Given the description of an element on the screen output the (x, y) to click on. 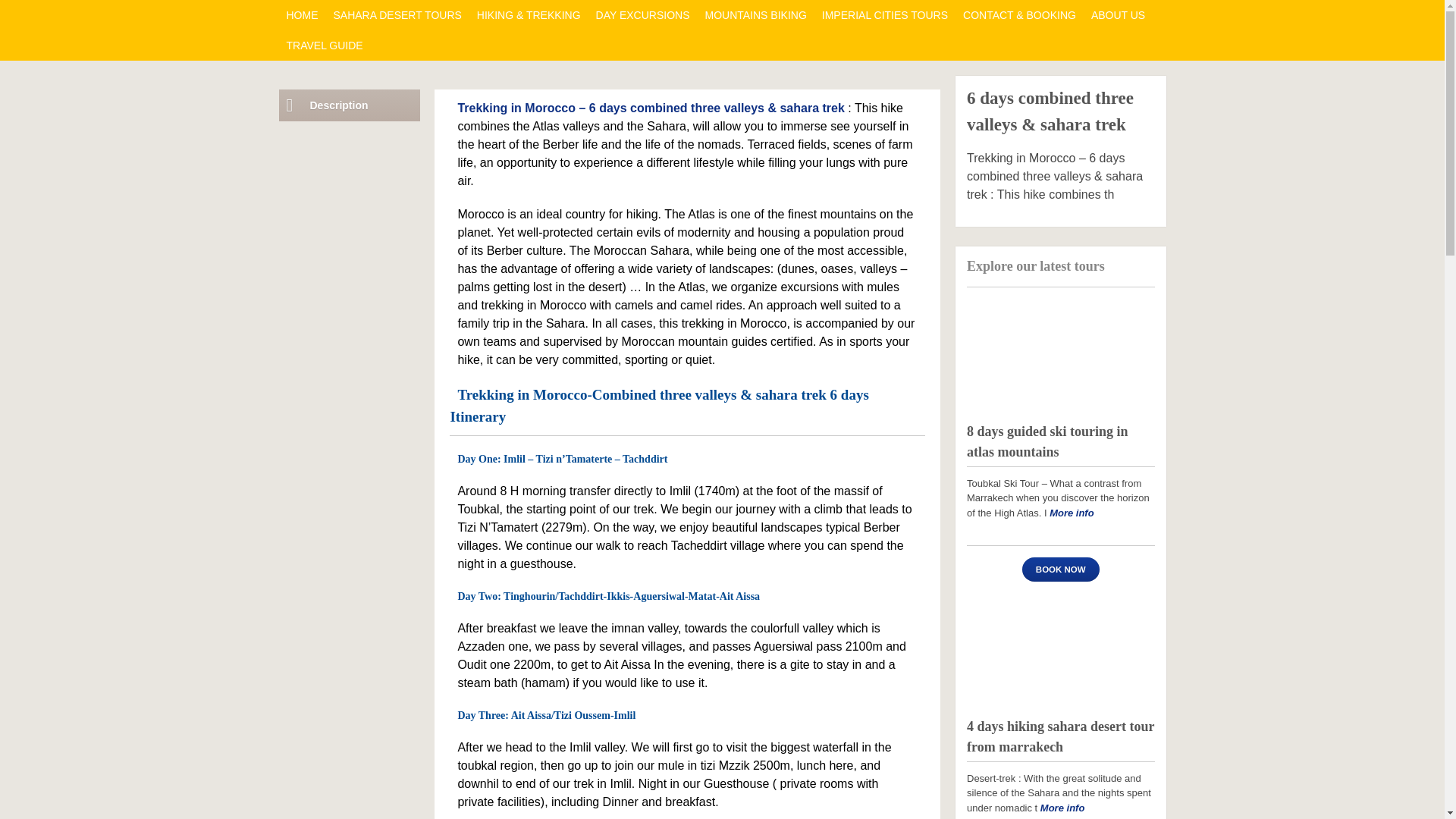
DAY EXCURSIONS (642, 15)
MOUNTAINS BIKING (755, 15)
IMPERIAL CITIES TOURS (884, 15)
4 days hiking sahara desert tour from marrakech (1060, 649)
Description (349, 105)
SAHARA DESERT TOURS (397, 15)
More info (1071, 511)
Description (349, 105)
HOME (302, 15)
Book now (1060, 568)
